Given the description of an element on the screen output the (x, y) to click on. 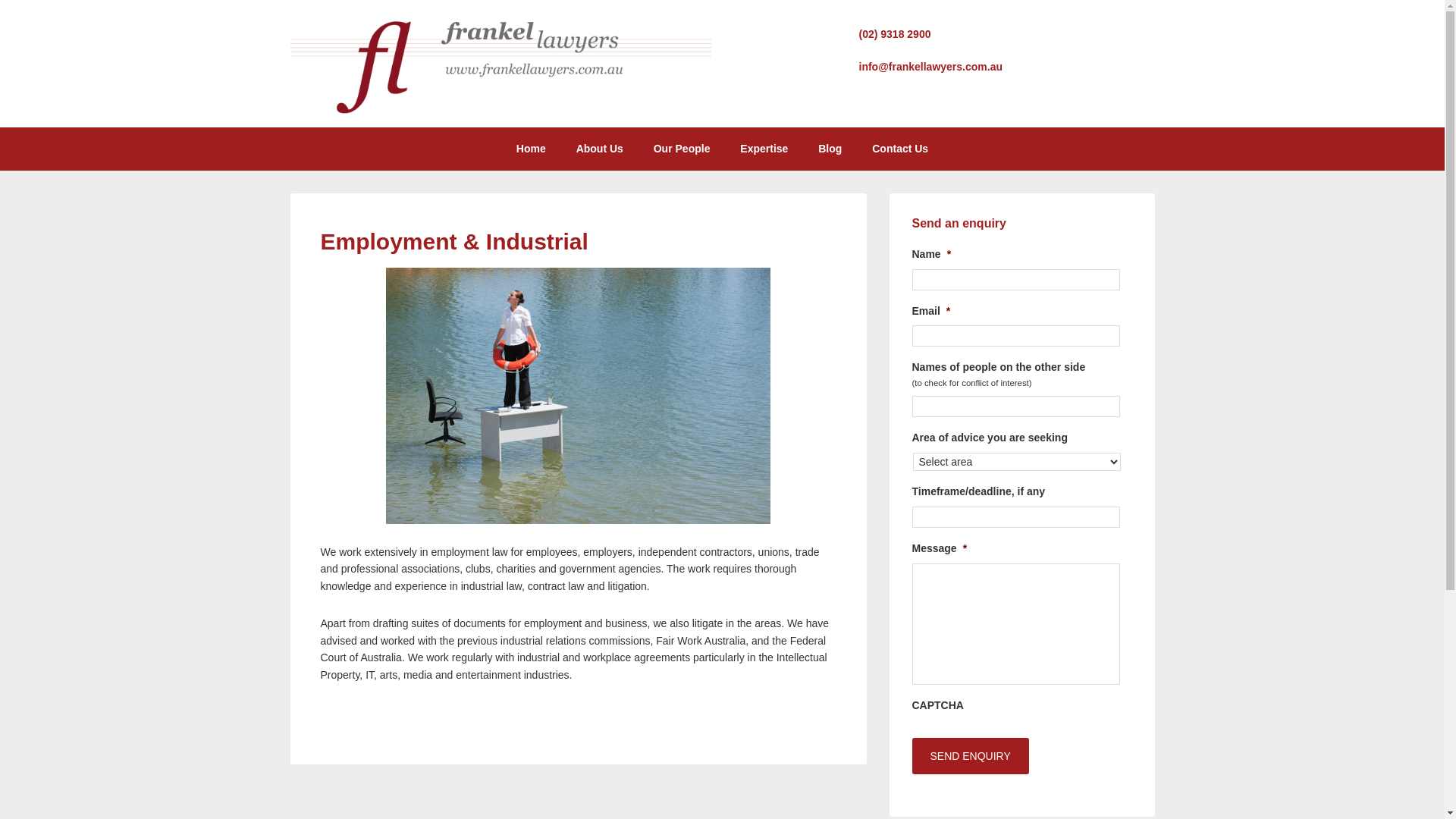
info@frankellawyers.com.au Element type: text (930, 66)
Blog Element type: text (829, 148)
Send enquiry Element type: text (969, 755)
(02) 9318 2900 Element type: text (894, 34)
Home Element type: text (530, 148)
Expertise Element type: text (763, 148)
About Us Element type: text (599, 148)
Our People Element type: text (682, 148)
Frankel Lawyers Element type: hover (499, 110)
Contact Us Element type: text (899, 148)
